Given the description of an element on the screen output the (x, y) to click on. 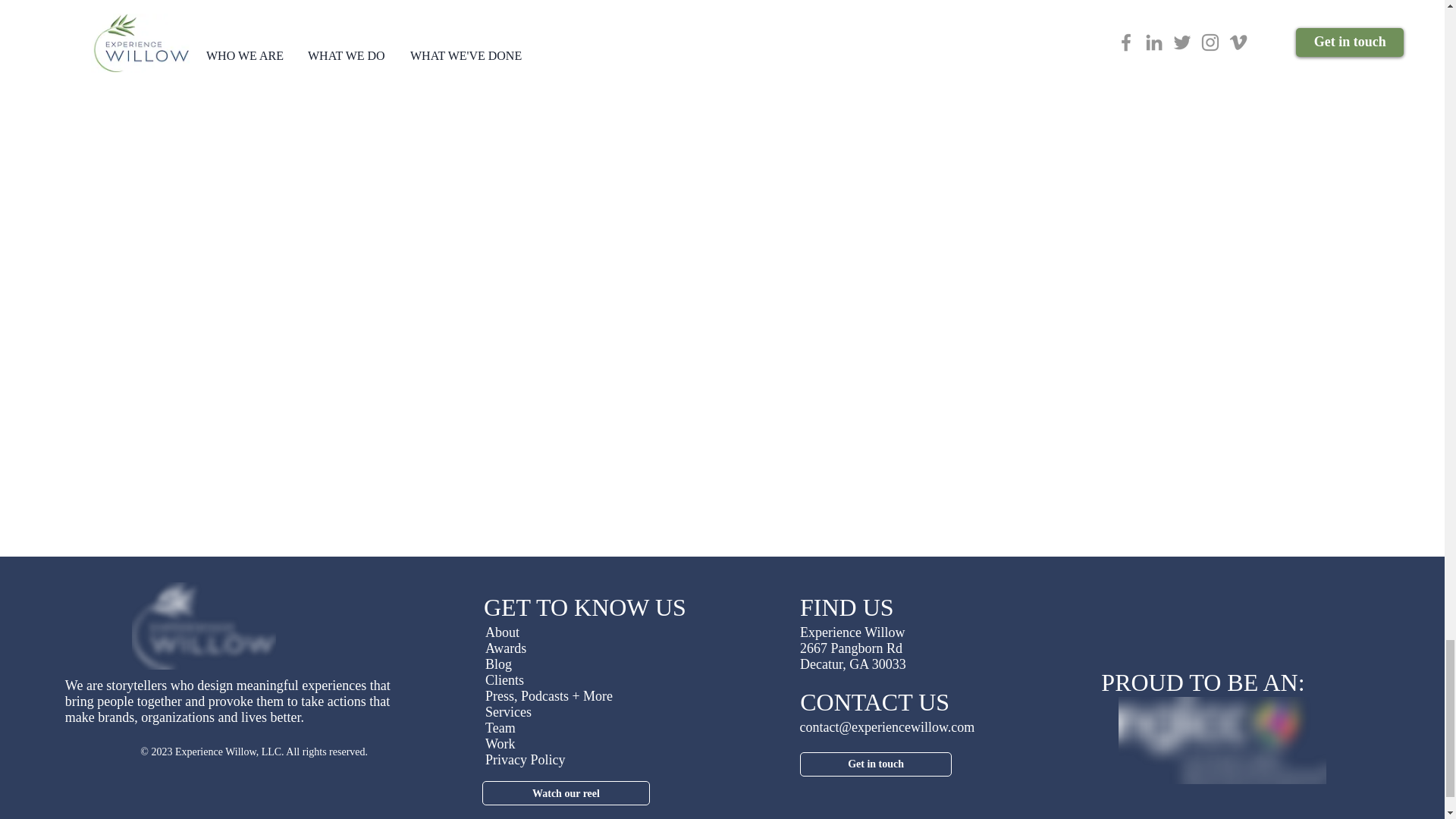
Privacy Policy (525, 759)
Get in touch (875, 764)
About (501, 631)
Work (499, 743)
Awards (504, 648)
Blog (498, 663)
. All rights reserved. (324, 751)
Team (499, 727)
Services (507, 711)
Clients (504, 679)
